Given the description of an element on the screen output the (x, y) to click on. 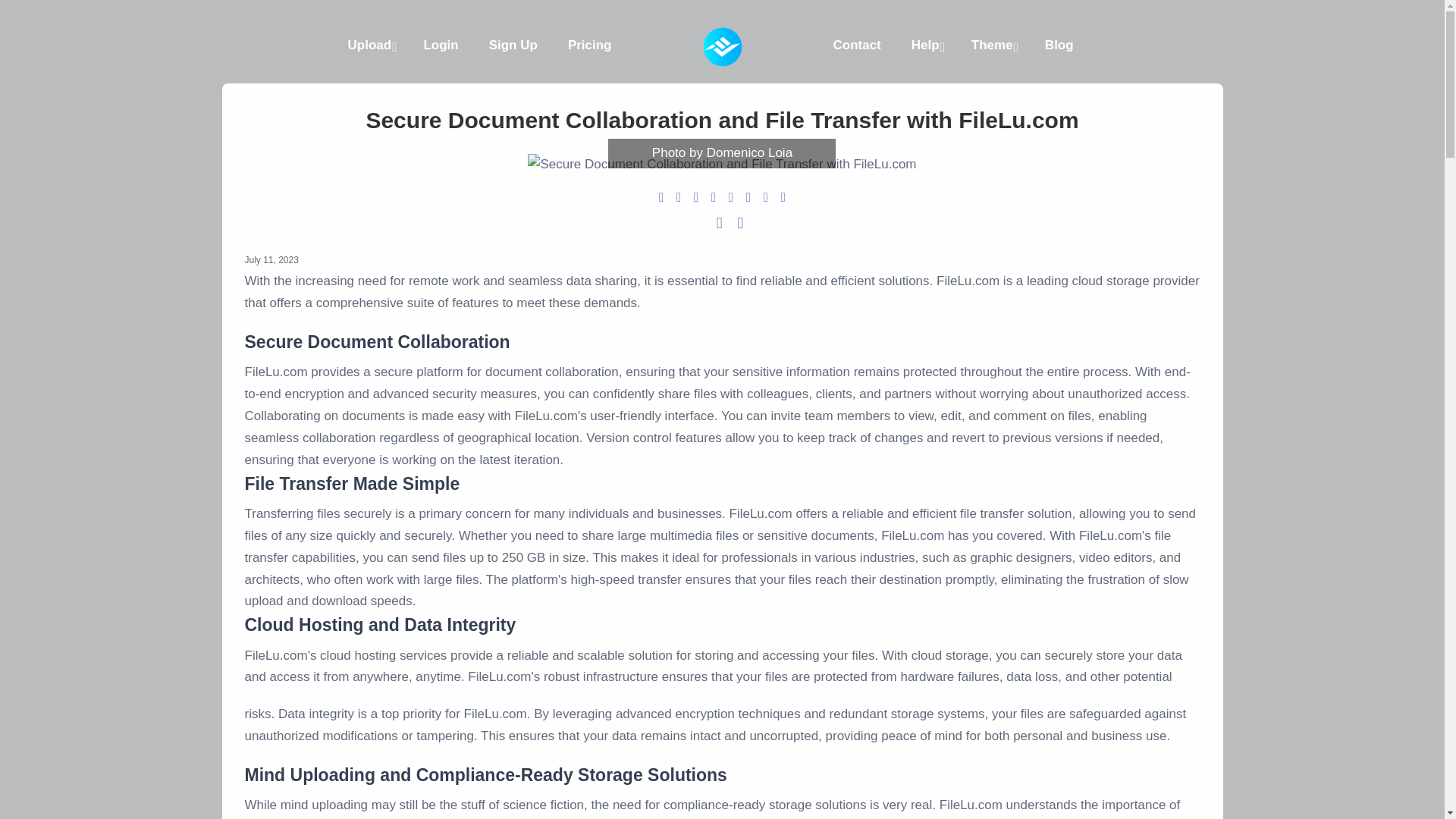
Upload (371, 46)
Help (926, 46)
Pricing (590, 45)
Login (440, 45)
Contact (855, 45)
Sign Up (513, 45)
